Given the description of an element on the screen output the (x, y) to click on. 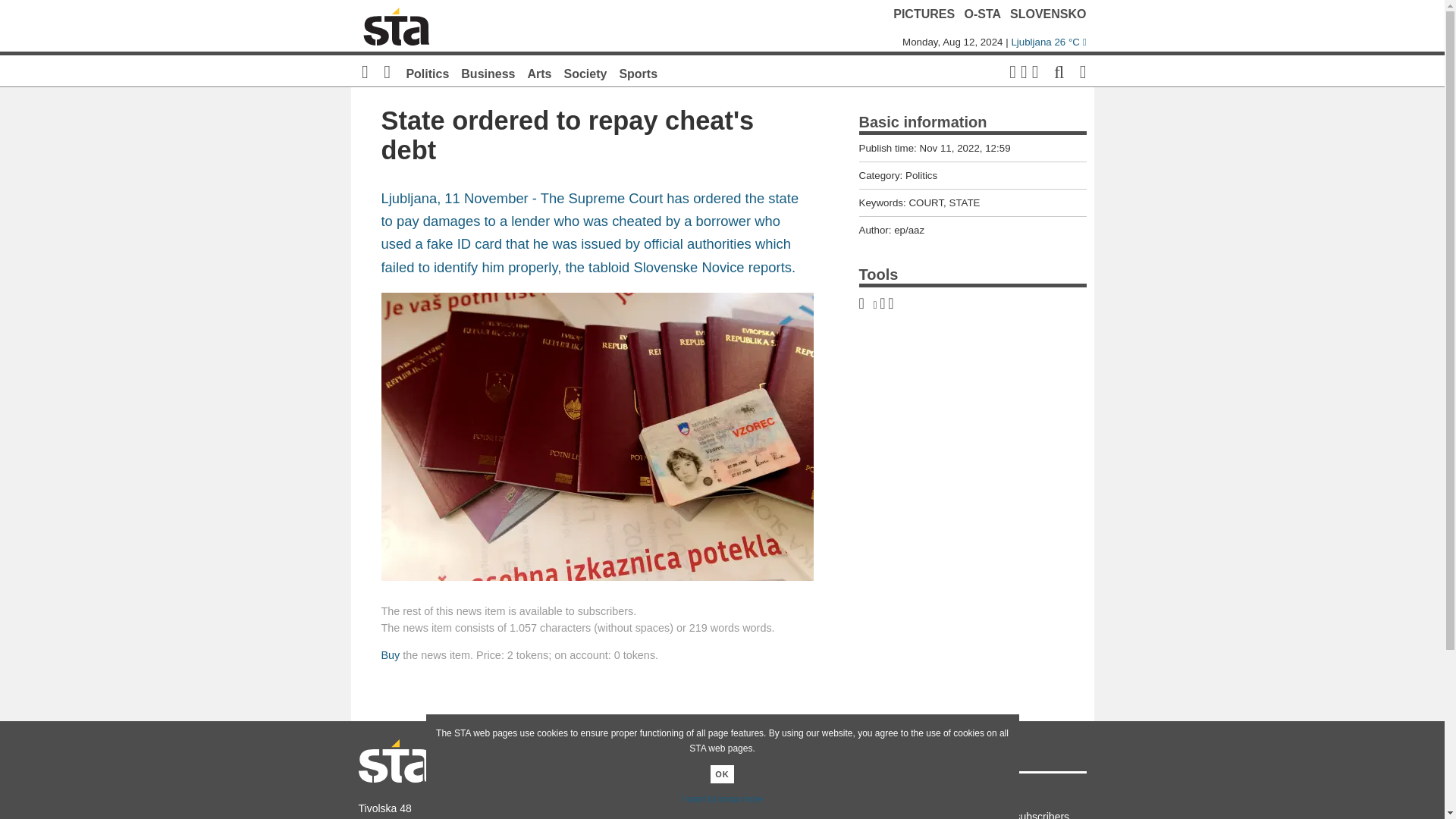
STApictures (676, 797)
Sports (638, 73)
Business (488, 73)
STAenglish (858, 797)
SLOVENSKO (1048, 13)
Politics (427, 73)
PICTURES (924, 13)
O-STA (982, 13)
STAklub (767, 813)
O-STA (676, 813)
